Given the description of an element on the screen output the (x, y) to click on. 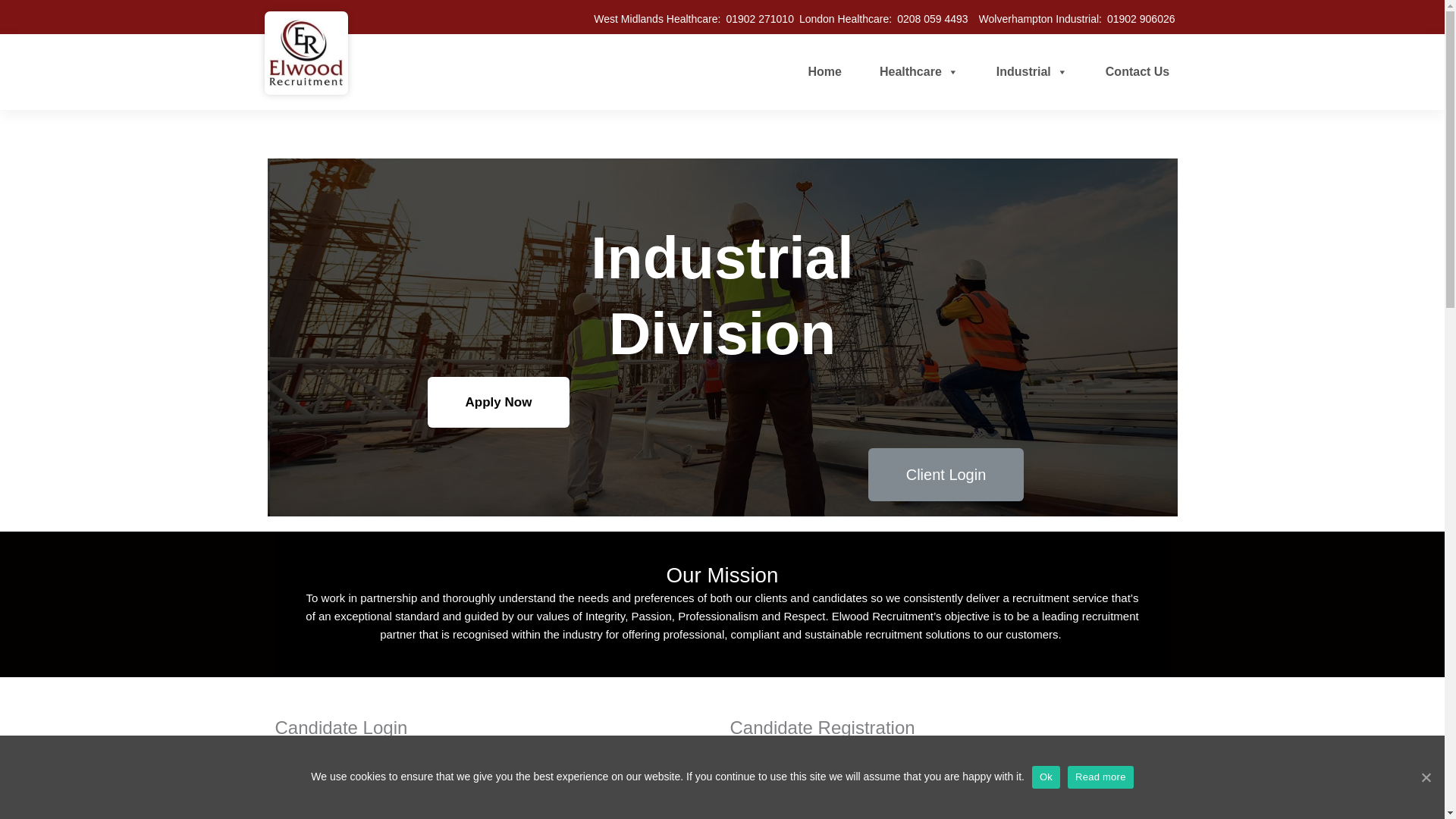
0208 059 4493 (932, 18)
Healthcare (919, 71)
01902 906026 (1140, 18)
Wolverhampton Industrial: (1040, 18)
Industrial (1031, 71)
01902 271010 (759, 18)
